Given the description of an element on the screen output the (x, y) to click on. 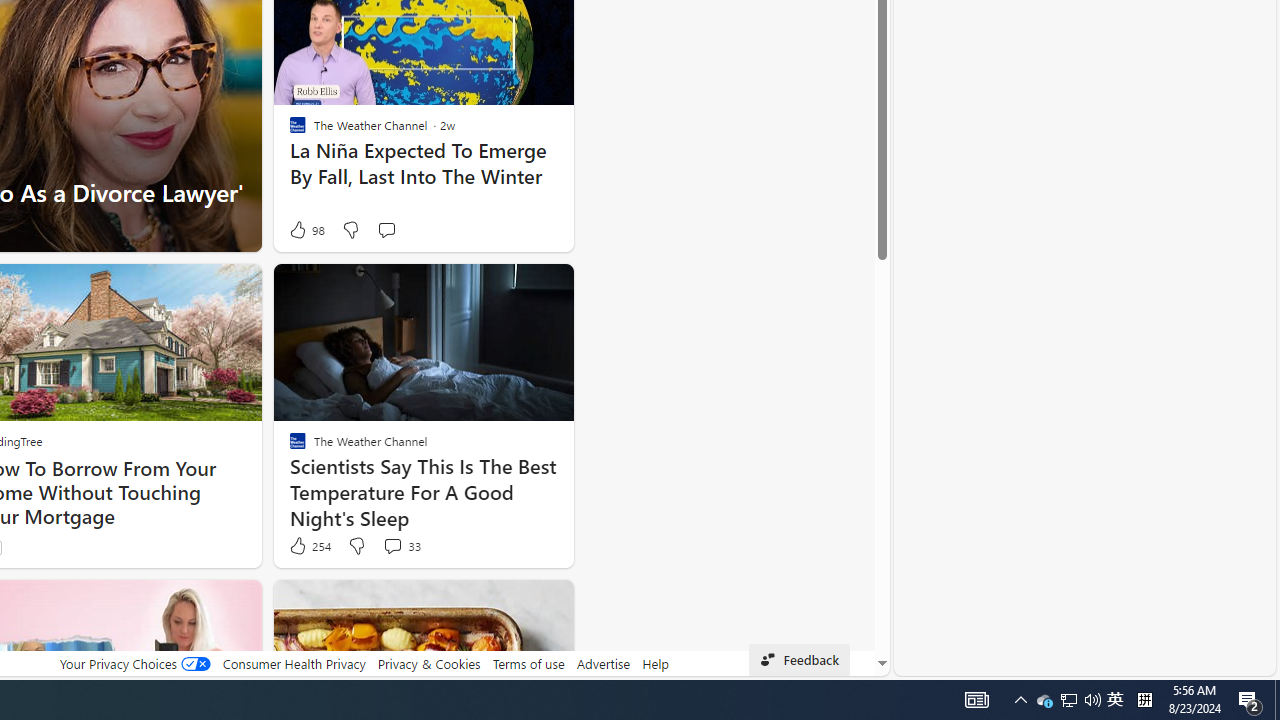
98 Like (305, 230)
View comments 33 Comment (400, 546)
Privacy & Cookies (429, 663)
254 Like (309, 546)
Terms of use (527, 663)
View comments 33 Comment (392, 545)
Consumer Health Privacy (293, 663)
